Given the description of an element on the screen output the (x, y) to click on. 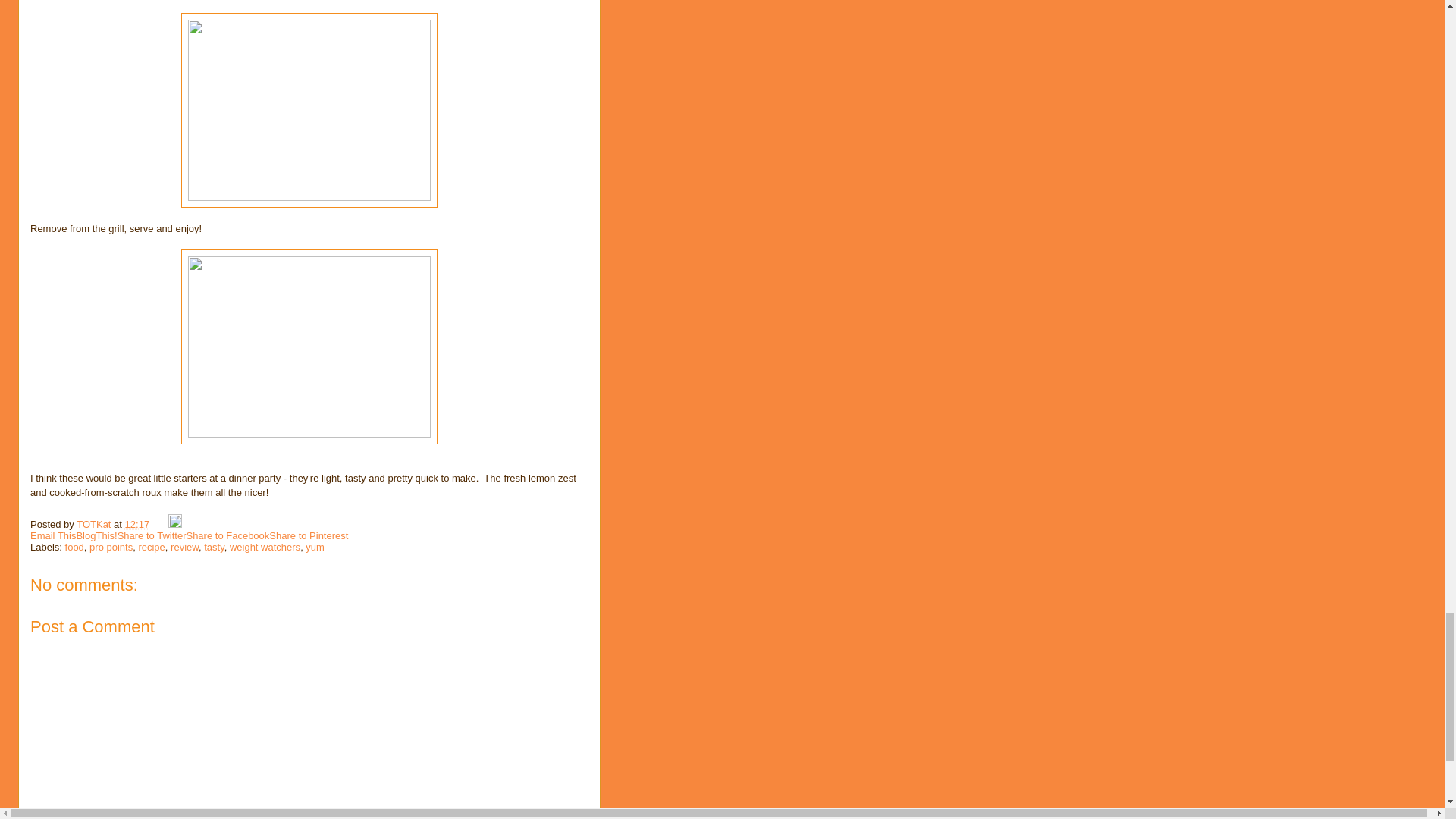
Email This (52, 535)
Edit Post (175, 523)
recipe (151, 546)
food (74, 546)
permanent link (137, 523)
Email This (52, 535)
Share to Pinterest (308, 535)
Share to Twitter (151, 535)
tasty (213, 546)
author profile (95, 523)
weight watchers (264, 546)
Share to Pinterest (308, 535)
BlogThis! (95, 535)
12:17 (137, 523)
review (184, 546)
